Given the description of an element on the screen output the (x, y) to click on. 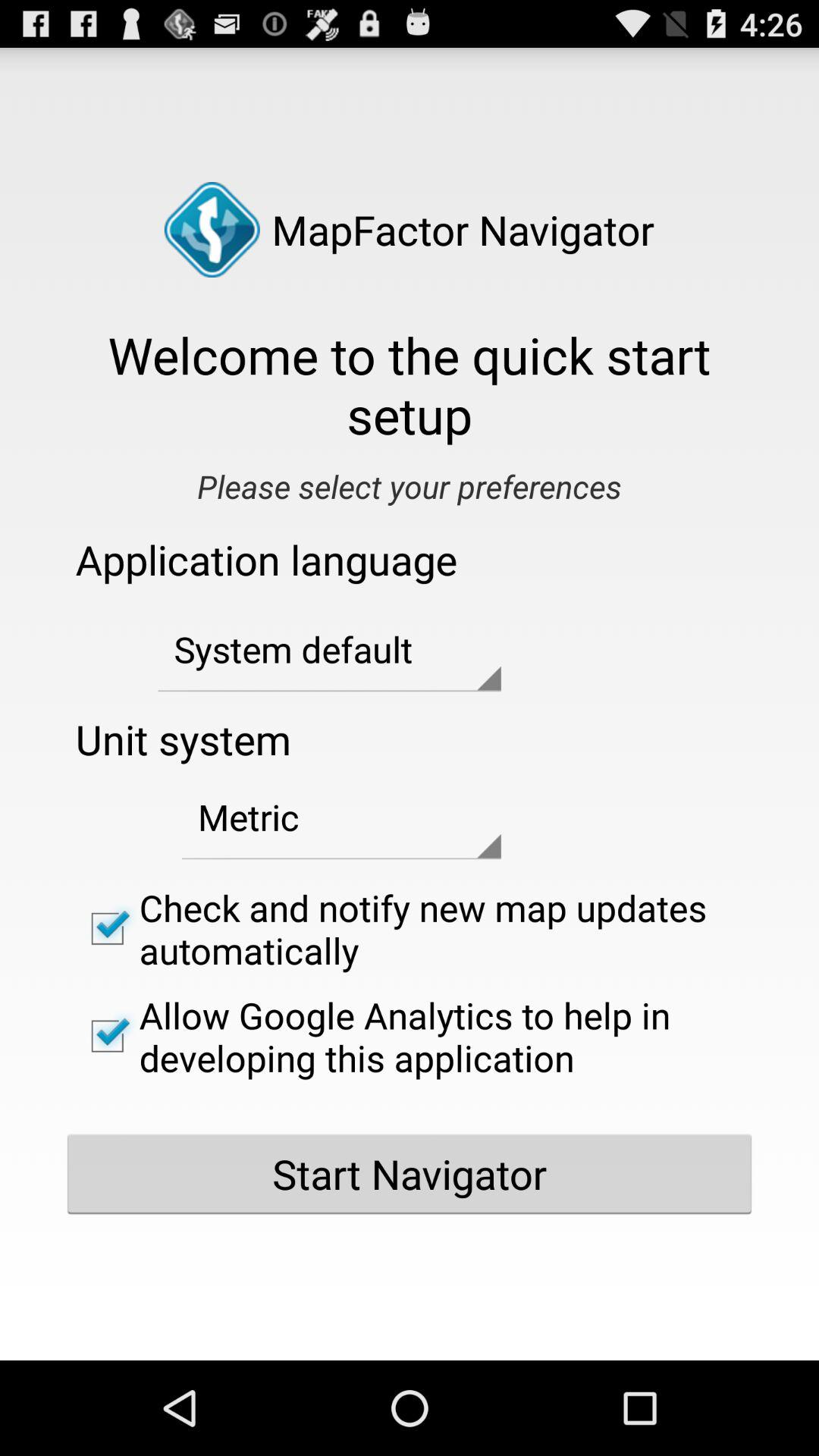
scroll until the allow google analytics item (409, 1036)
